Given the description of an element on the screen output the (x, y) to click on. 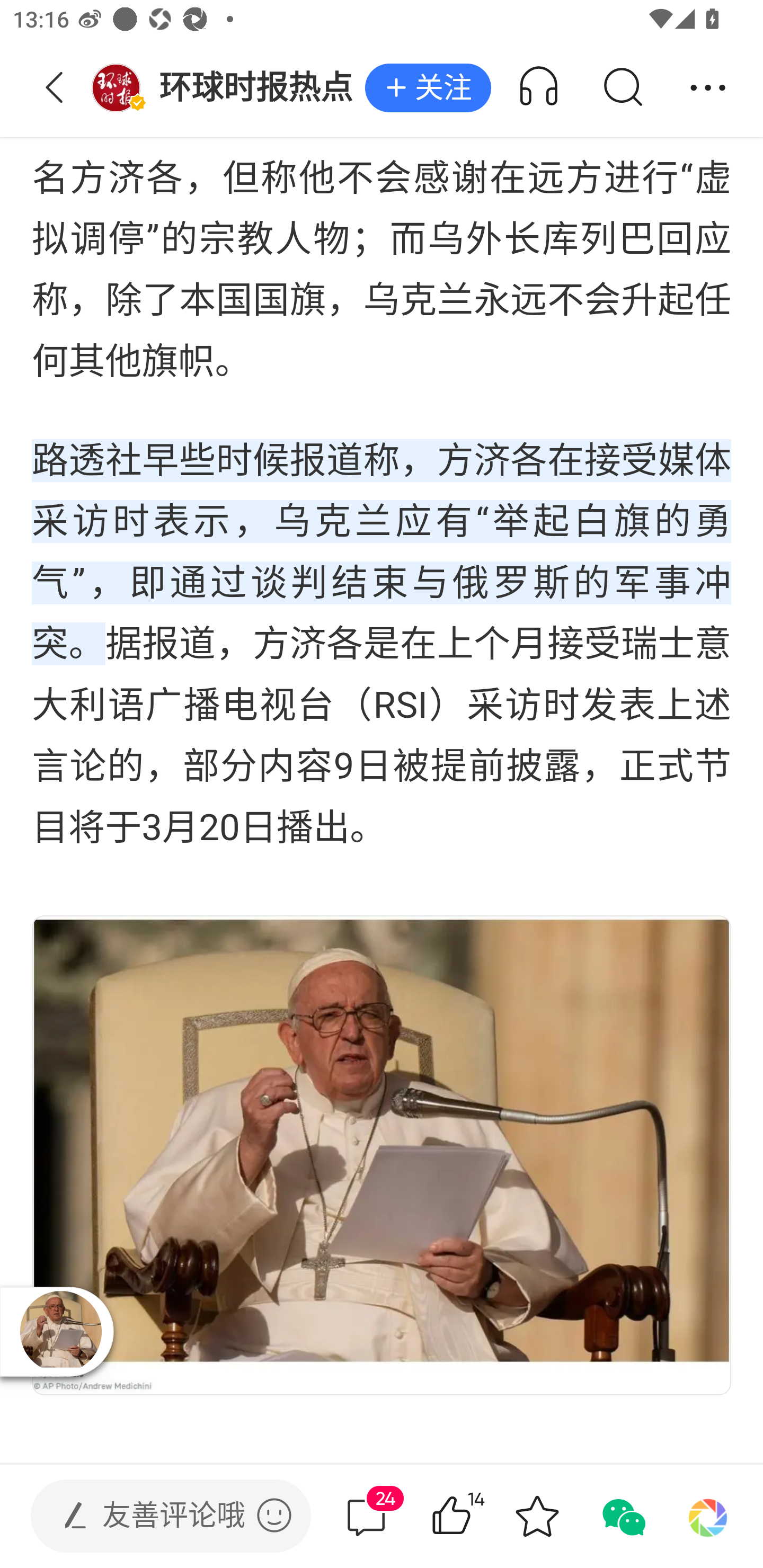
环球时报热点 (227, 87)
搜索  (622, 87)
分享  (707, 87)
 返回 (54, 87)
 关注 (427, 88)
新闻图片 (381, 1155)
播放器 (60, 1331)
发表评论  友善评论哦 发表评论  (155, 1516)
24评论  24 评论 (365, 1516)
14赞 (476, 1516)
收藏  (536, 1516)
分享到微信  (622, 1516)
分享到朋友圈 (707, 1516)
 (274, 1515)
